Given the description of an element on the screen output the (x, y) to click on. 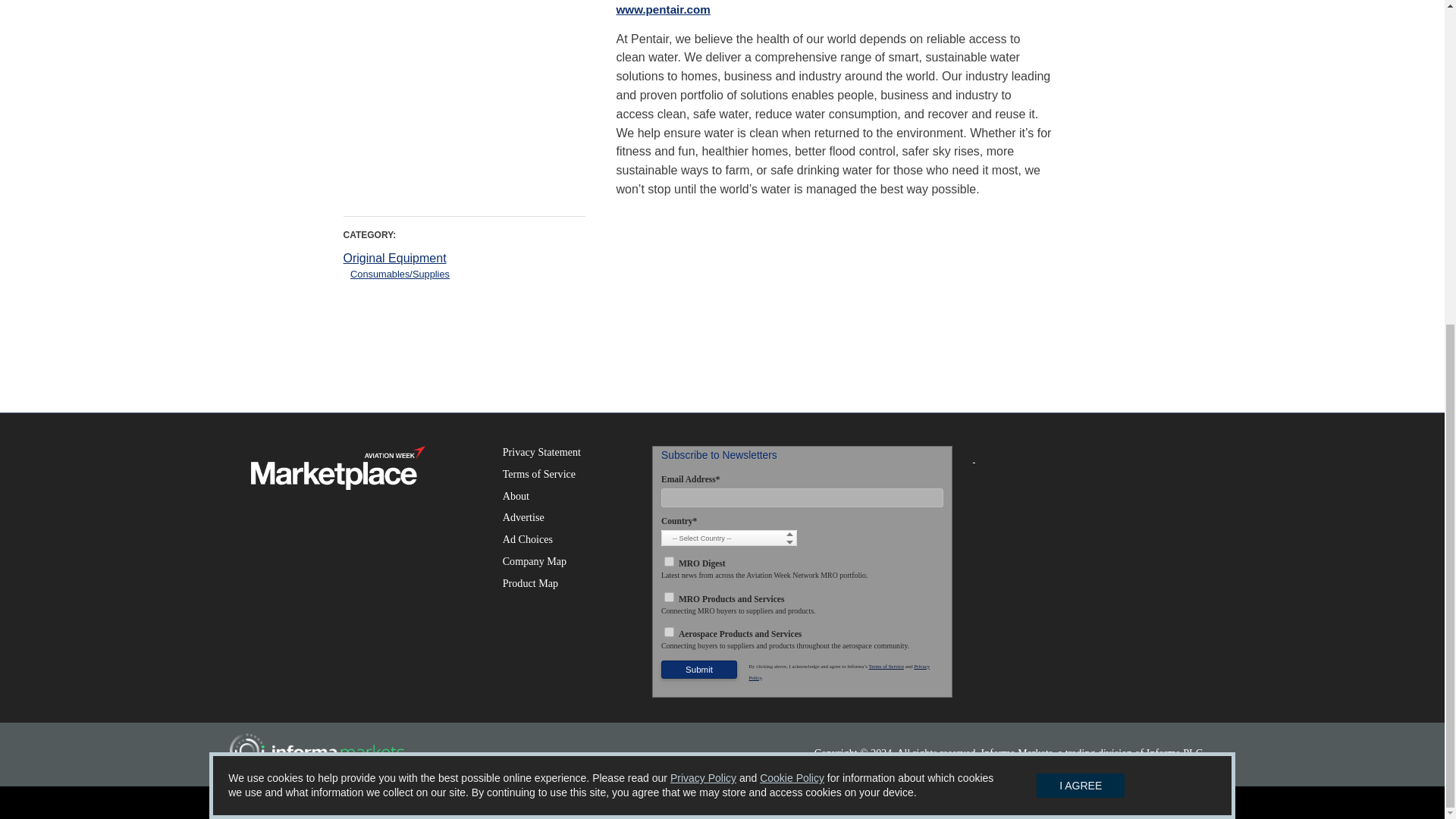
on (668, 596)
on (668, 632)
3rd party ad content (721, 341)
on (668, 561)
Submit (698, 669)
3rd party ad content (464, 109)
